Given the description of an element on the screen output the (x, y) to click on. 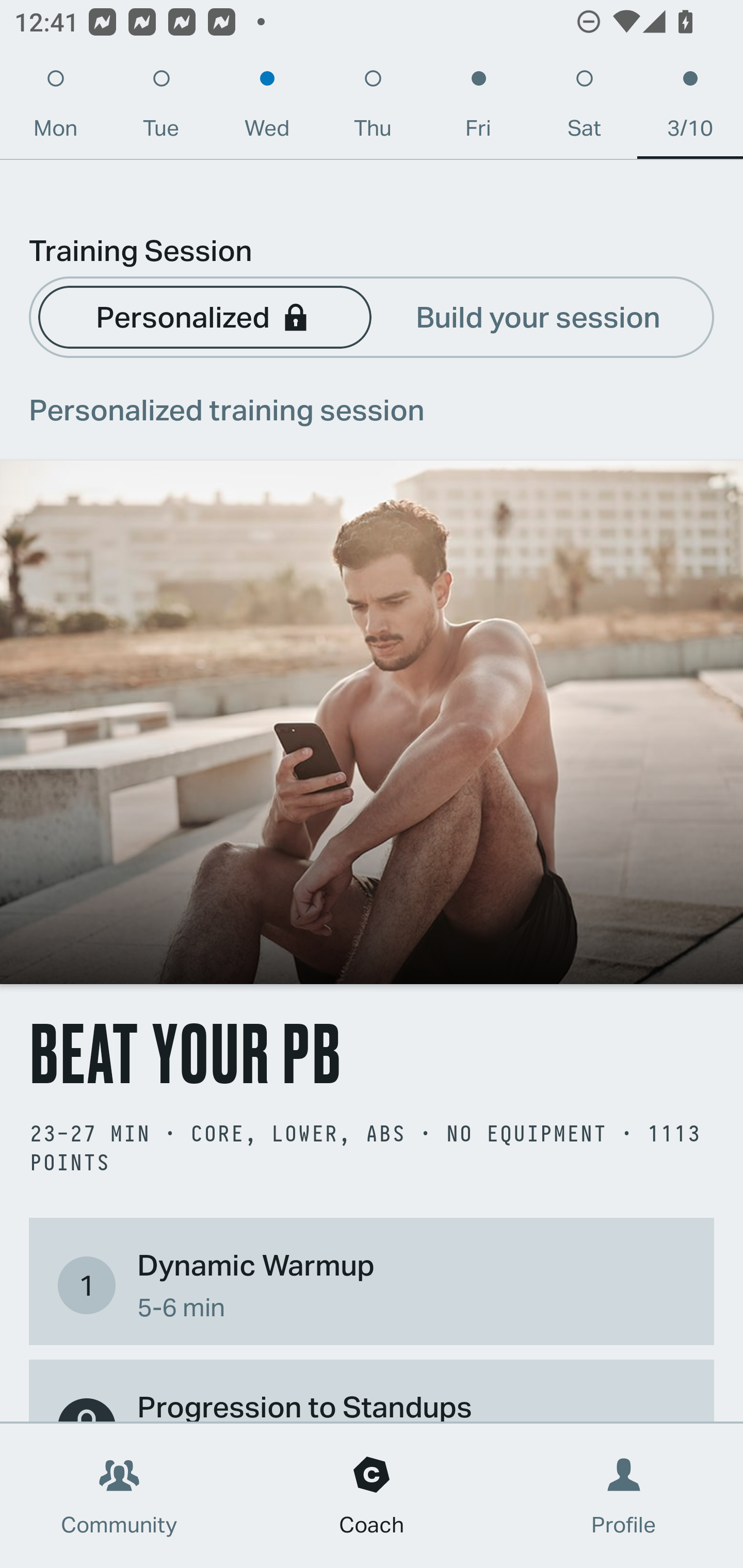
Mon (55, 108)
Tue (160, 108)
Wed (266, 108)
Thu (372, 108)
Fri (478, 108)
Sat (584, 108)
3/10 (690, 108)
Personalized (204, 315)
Build your session (538, 315)
1 Dynamic Warmup 5-6 min (371, 1284)
Community (119, 1495)
Profile (624, 1495)
